Given the description of an element on the screen output the (x, y) to click on. 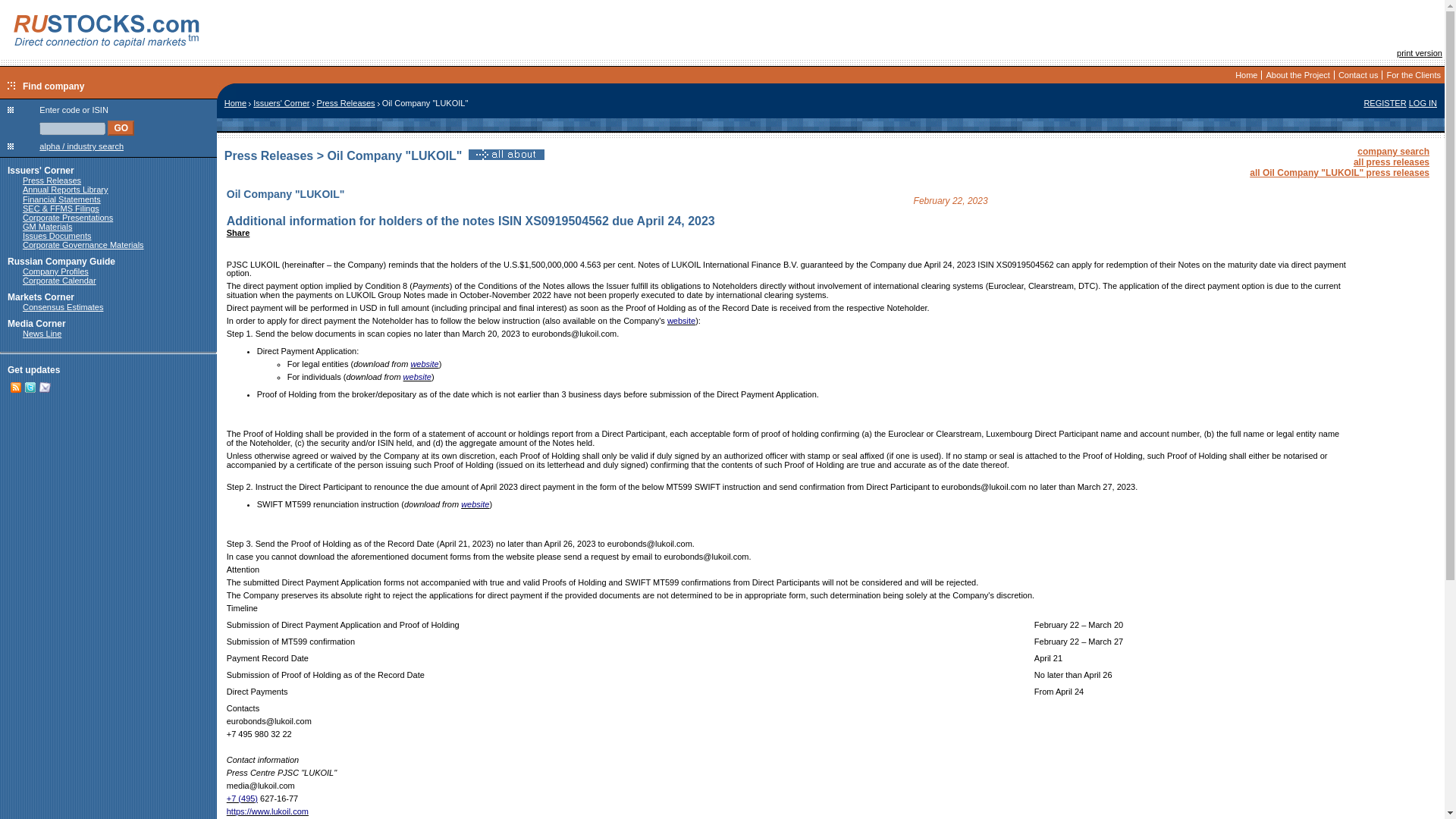
News Line (42, 333)
email (44, 389)
Home (235, 102)
print version (1419, 52)
company search (1392, 151)
Press Releases (346, 102)
Corporate Presentations (68, 216)
Financial Statements (61, 198)
Company Profiles (55, 271)
twitter (30, 387)
Issuers' Corner (40, 170)
Home (1245, 74)
Corporate Calendar (59, 280)
Russian Company Guide (61, 261)
Corporate Governance Materials (83, 244)
